Given the description of an element on the screen output the (x, y) to click on. 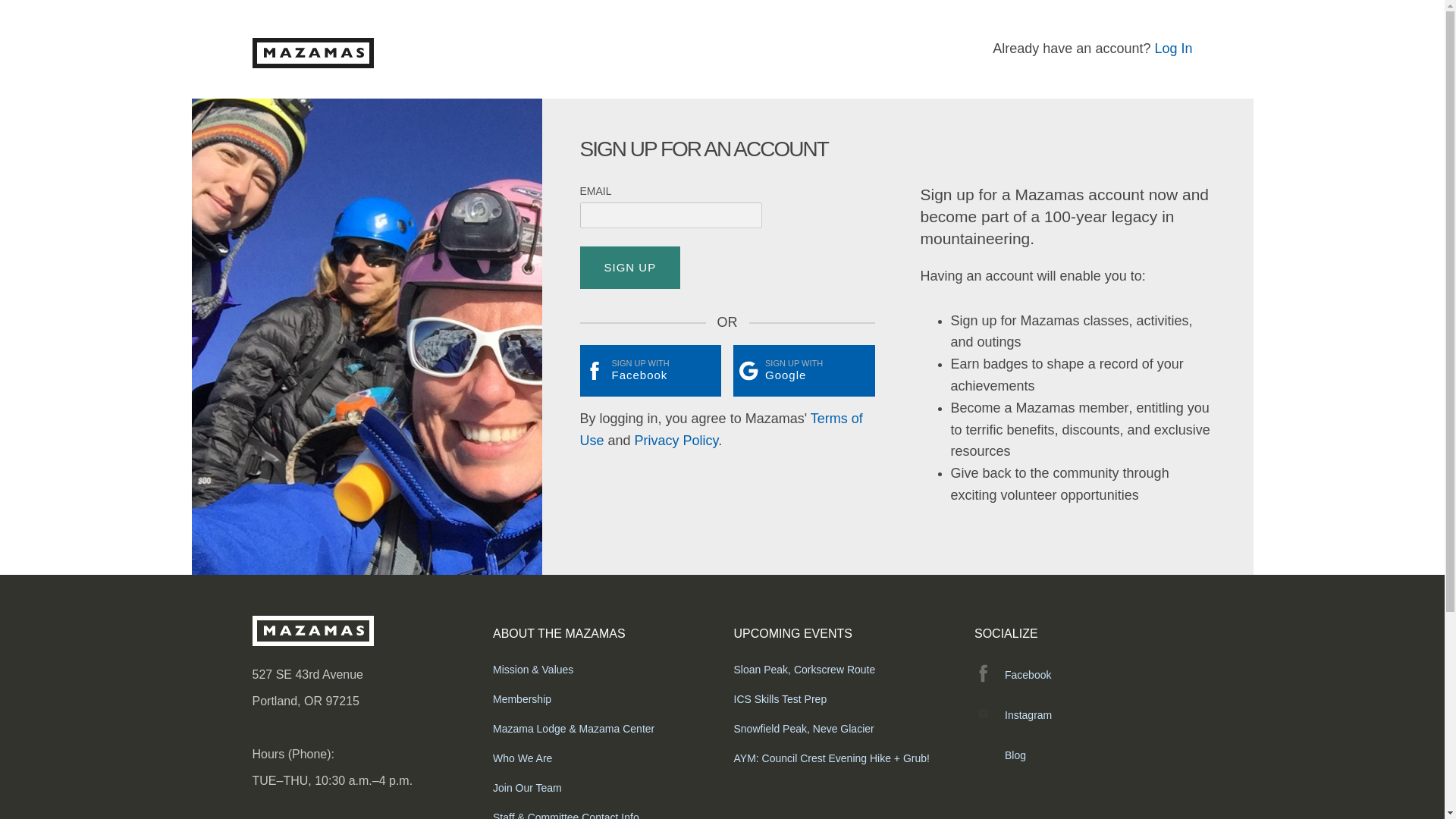
Instagram (1083, 714)
Membership (602, 698)
Mazamas Logo Icon Icon of Mazamas text with a border. (311, 637)
ICS Skills Test Prep (842, 698)
Blog (1083, 755)
Sloan Peak, Corkscrew Route (842, 669)
Facebook (1083, 674)
Mazamas Logo Icon Icon of Mazamas text with a border. (311, 52)
Sign Up (629, 267)
Privacy Policy (676, 440)
Terms of Use (720, 429)
Join Our Team (602, 787)
Mazamas Logo Icon Icon of Mazamas text with a border. (311, 630)
